Given the description of an element on the screen output the (x, y) to click on. 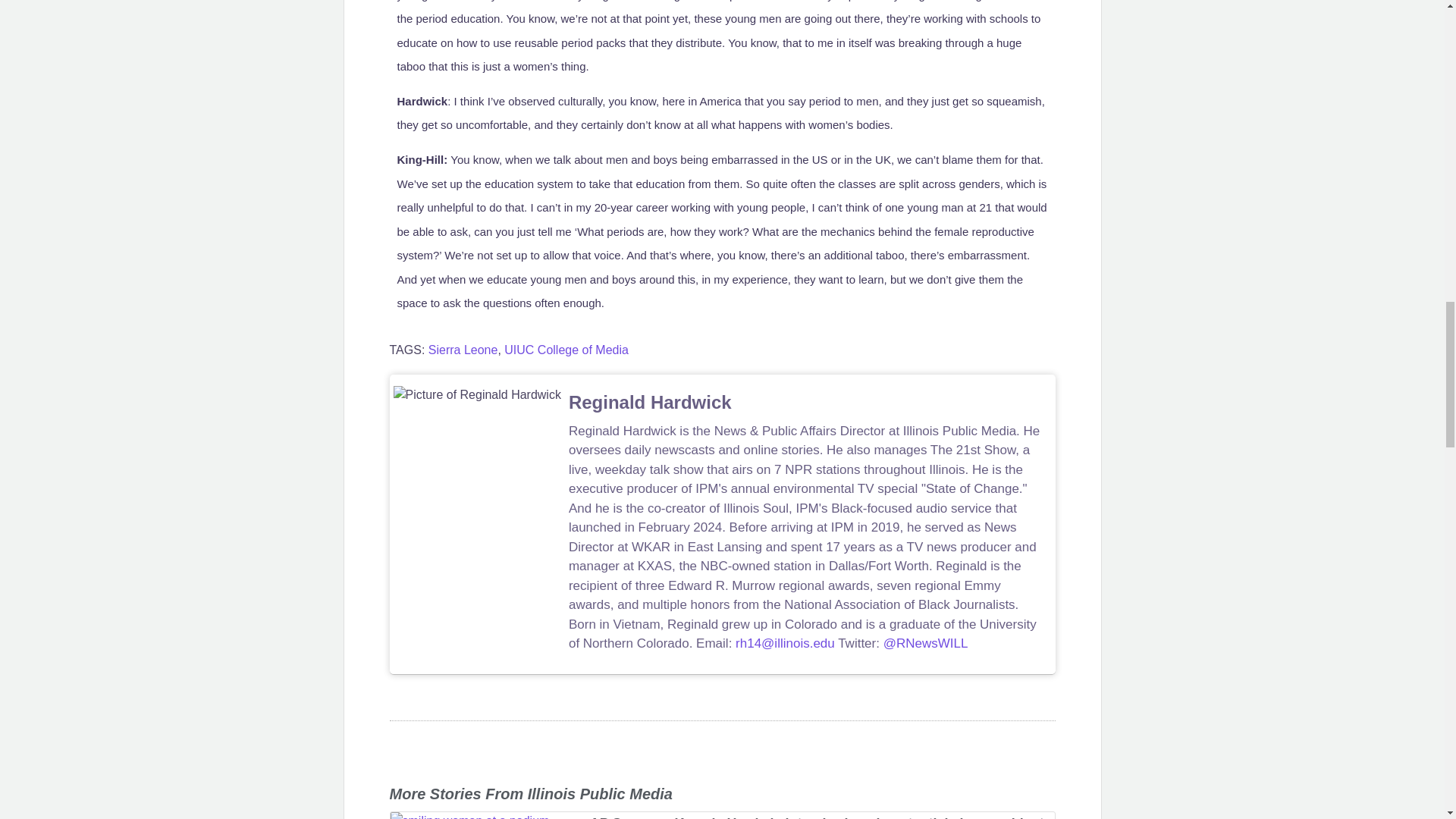
Sierra Leone (462, 349)
UIUC College of Media (565, 349)
